Given the description of an element on the screen output the (x, y) to click on. 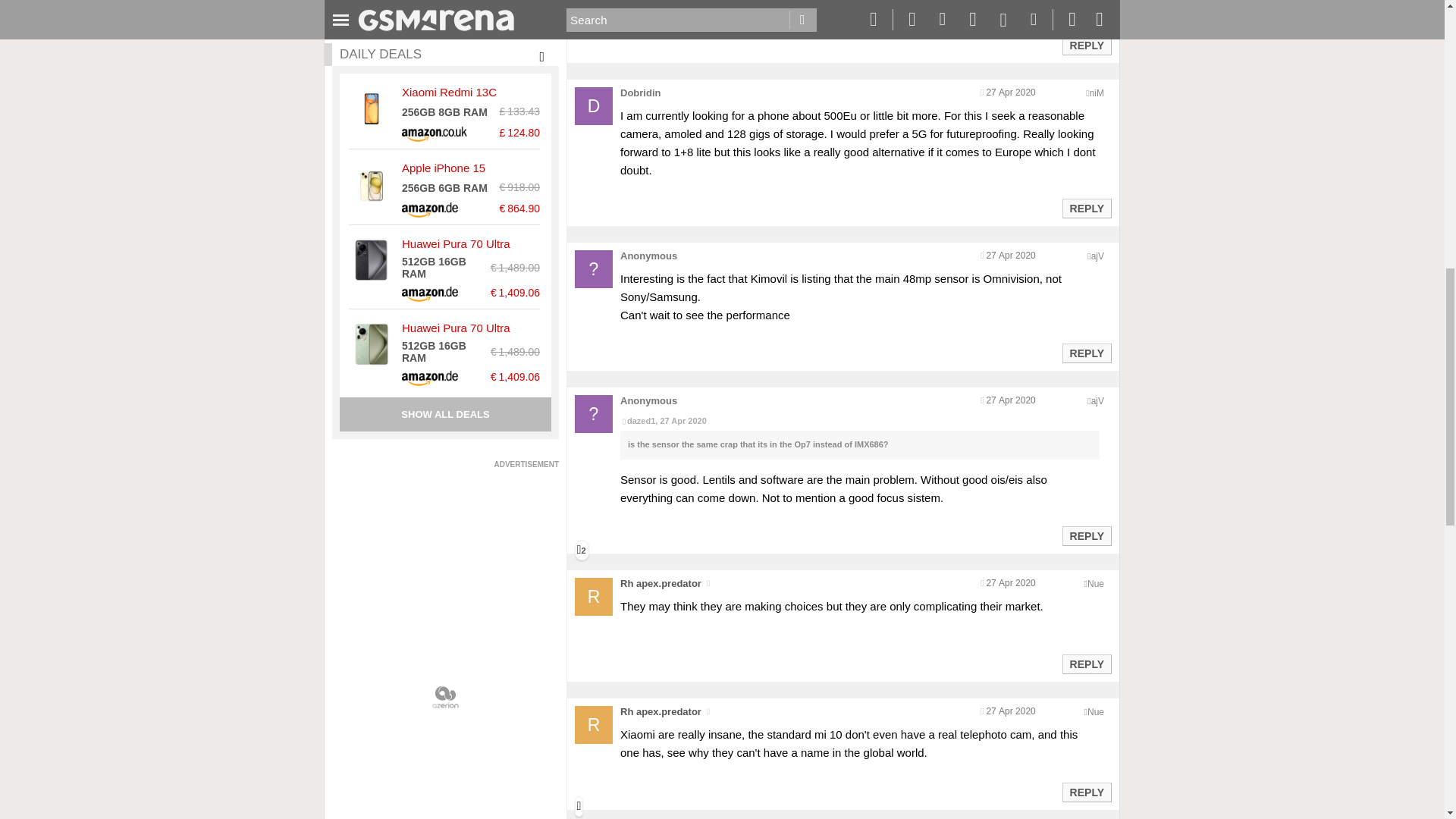
Encoded anonymized location (1096, 92)
Encoded anonymized location (1096, 255)
Encoded anonymized location (1096, 400)
Reply to this post (1086, 353)
Reply to this post (1086, 45)
Encoded anonymized location (1095, 711)
Reply to this post (1086, 208)
Encoded anonymized location (1095, 583)
Reply to this post (1086, 792)
Reply to this post (1086, 664)
